Given the description of an element on the screen output the (x, y) to click on. 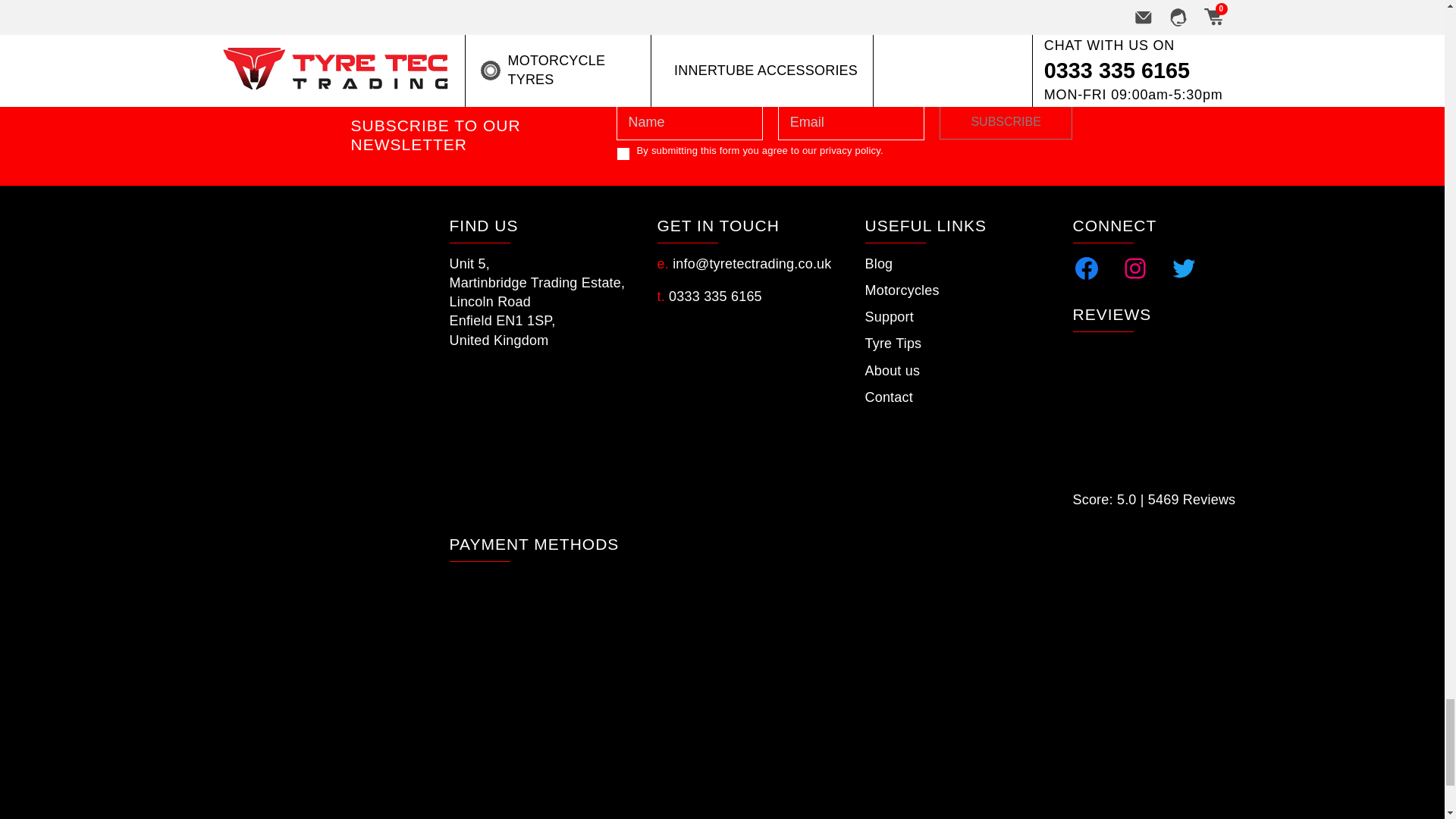
SUBSCRIBE (1005, 121)
